Given the description of an element on the screen output the (x, y) to click on. 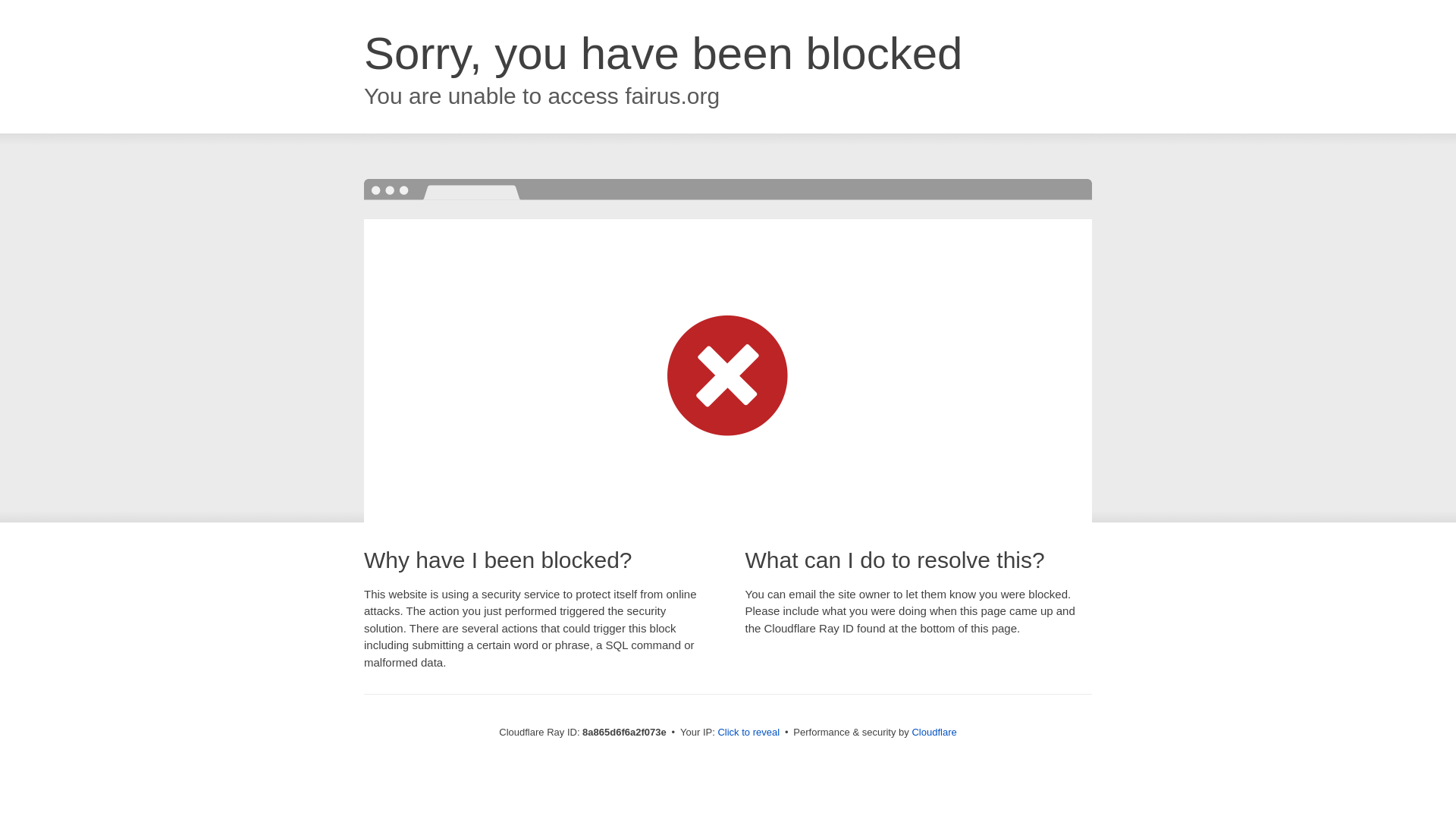
Cloudflare (933, 731)
Click to reveal (747, 732)
